Given the description of an element on the screen output the (x, y) to click on. 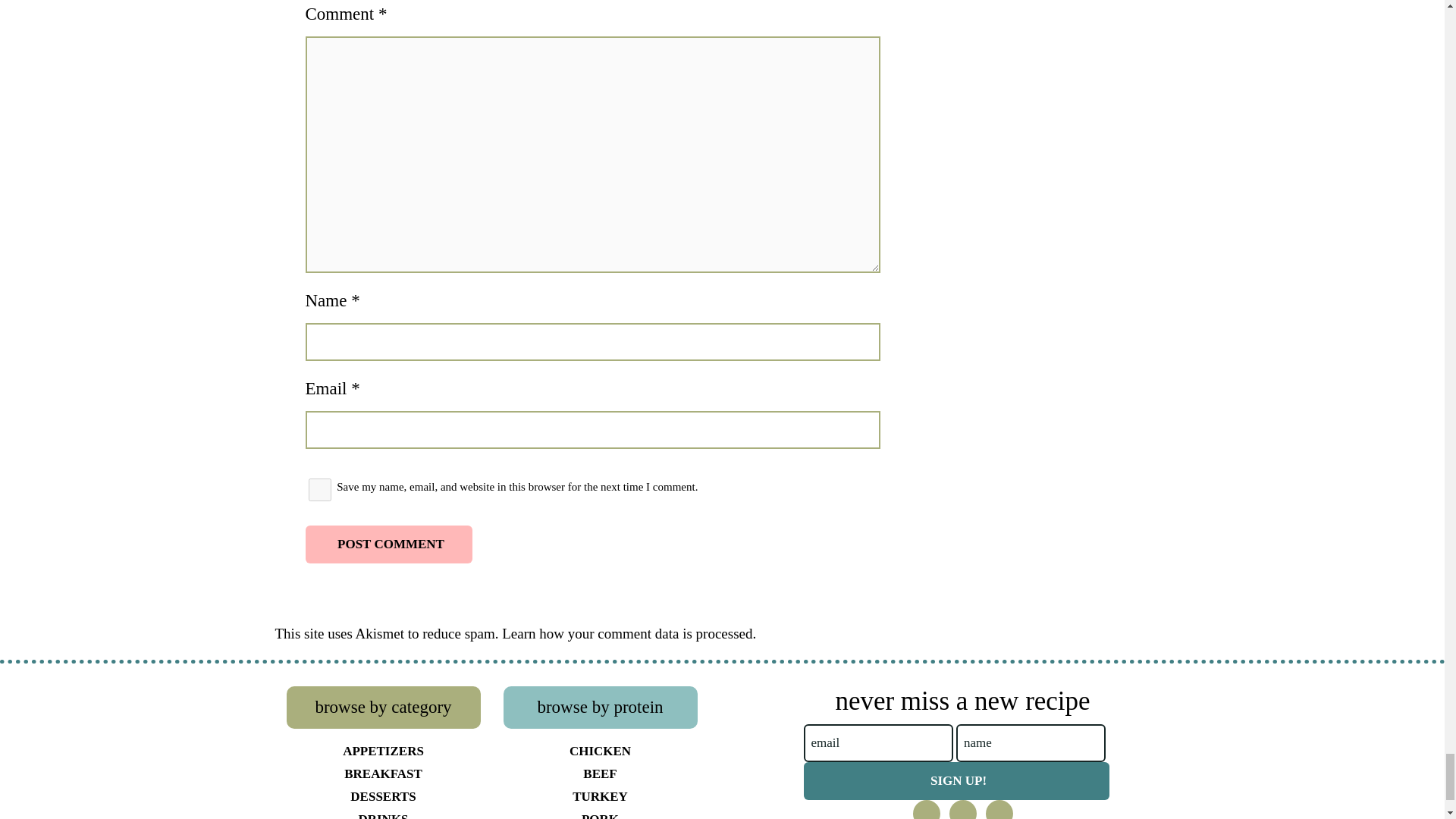
Post Comment (387, 544)
sign up! (956, 781)
